Given the description of an element on the screen output the (x, y) to click on. 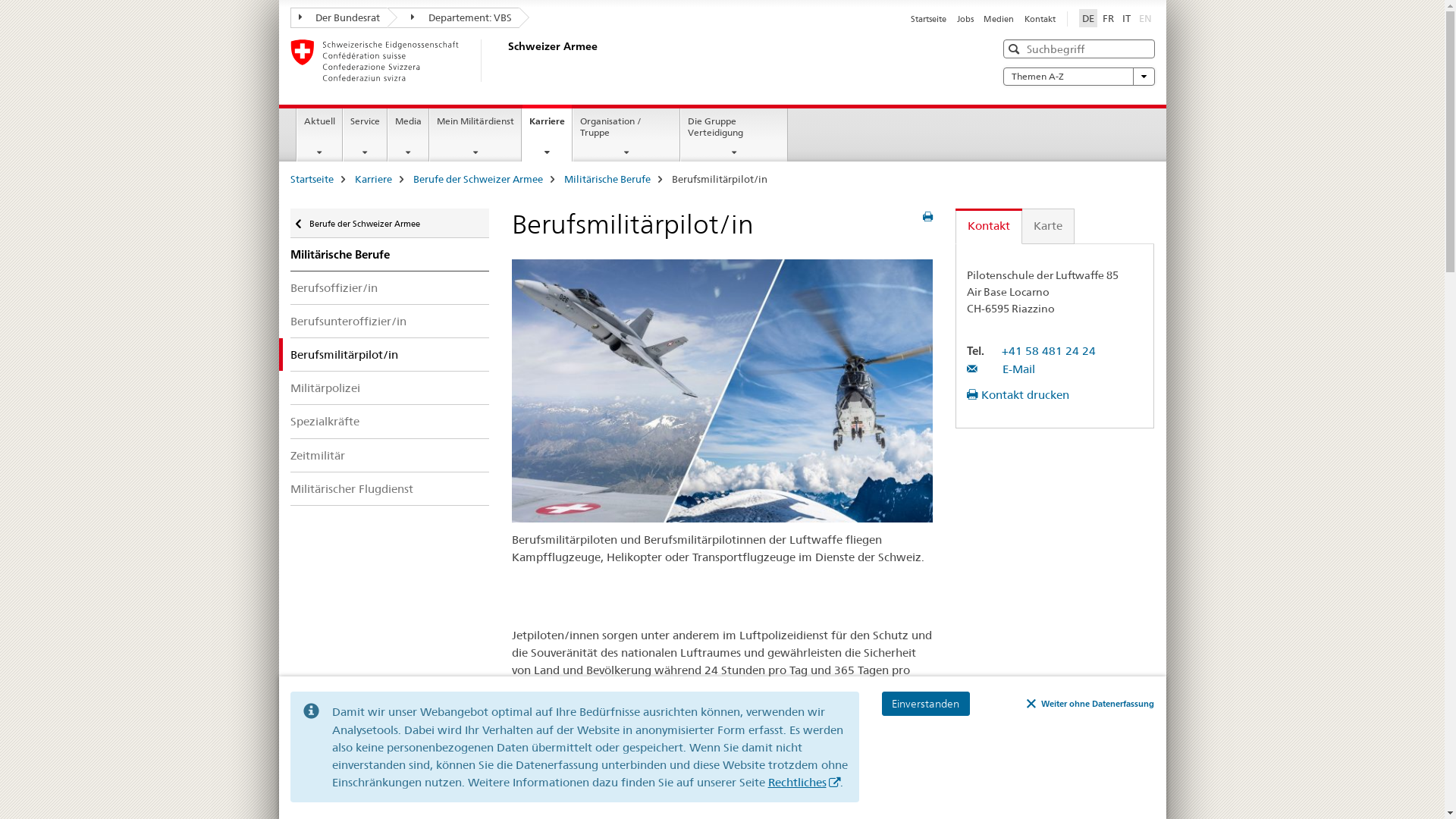
Die Gruppe Verteidigung Element type: text (733, 134)
IT Element type: text (1126, 18)
Weiter ohne Datenerfassung
Weiter ohne Datenerfassung
Close Element type: text (1090, 703)
Rechtliches Element type: text (803, 782)
Clear Element type: text (1140, 48)
Karriere
current page Element type: text (546, 132)
Karte Element type: text (1048, 226)
Organisation / Truppe Element type: text (626, 134)
print preview Element type: text (927, 216)
Medien Element type: text (998, 18)
Departement: VBS Element type: text (453, 17)
Startseite Element type: text (310, 178)
Berufsunteroffizier/in Element type: text (389, 320)
FR Element type: text (1108, 18)
Jobs Element type: text (965, 18)
Aktuell Element type: text (319, 134)
Startseite Element type: text (928, 18)
Einverstanden Element type: text (925, 703)
E-Mail Element type: text (1000, 368)
EN
disabled Element type: text (1144, 18)
Service Element type: text (364, 134)
Media Element type: text (408, 134)
Kontakt Element type: text (1038, 18)
Berufe der Schweizer Armee Element type: text (477, 178)
Schweizer Armee Element type: text (505, 60)
+41 58 481 24 24 Element type: text (1048, 350)
Kontakt Element type: text (988, 226)
DE
selected Element type: text (1087, 18)
Der Bundesrat Element type: text (338, 17)
Karriere Element type: text (373, 178)
Kontakt drucken Element type: text (1017, 394)
Themen A-Z Element type: text (1078, 76)
Berufsoffizier/in Element type: text (389, 287)
